Given the description of an element on the screen output the (x, y) to click on. 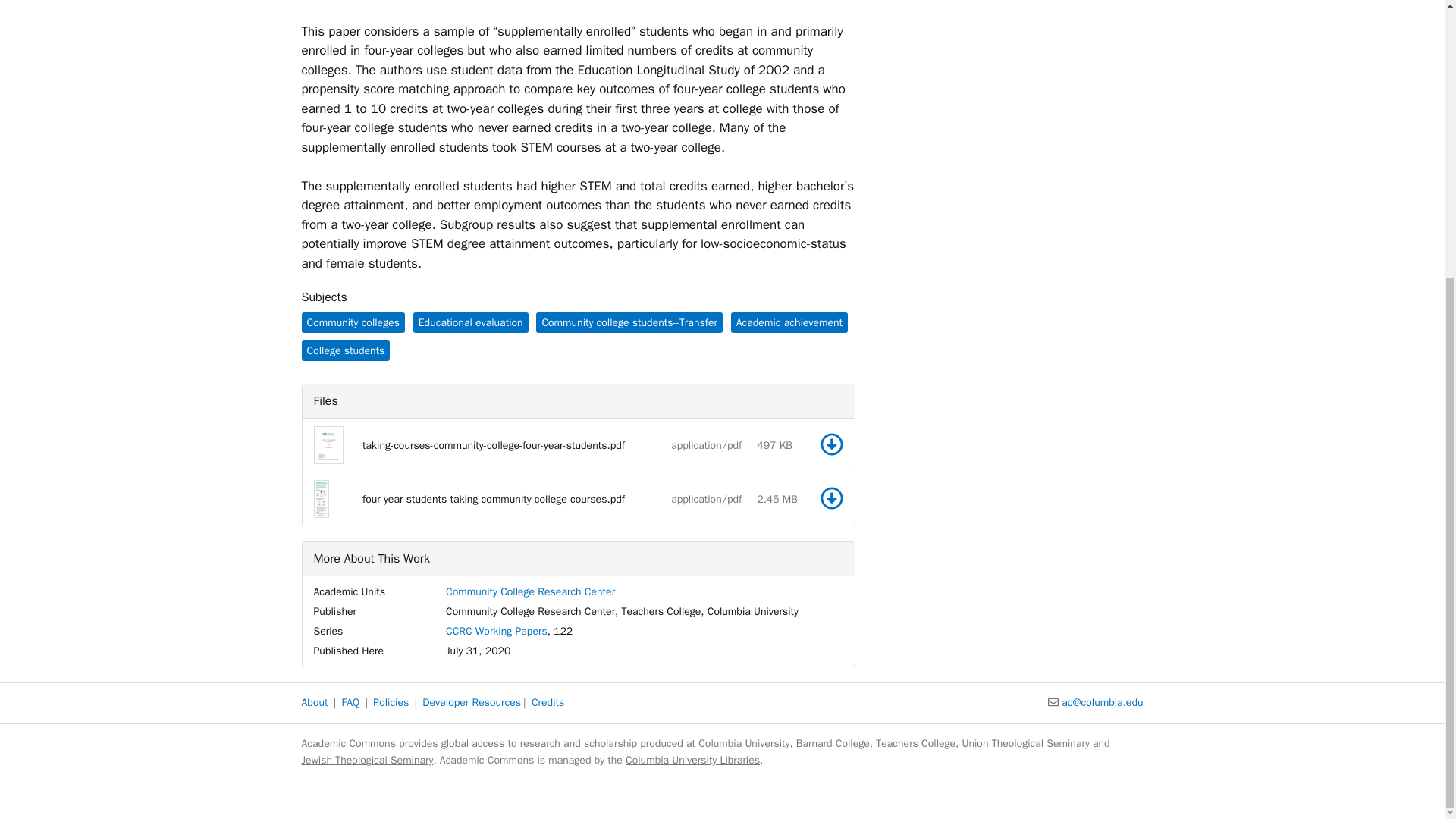
Developer Resources (471, 702)
Teachers College (915, 743)
College students (345, 350)
Policies (390, 702)
Download file (832, 497)
Columbia University (743, 743)
Community colleges (352, 322)
Download file (832, 497)
Educational evaluation (470, 322)
Jewish Theological Seminary (367, 759)
